Given the description of an element on the screen output the (x, y) to click on. 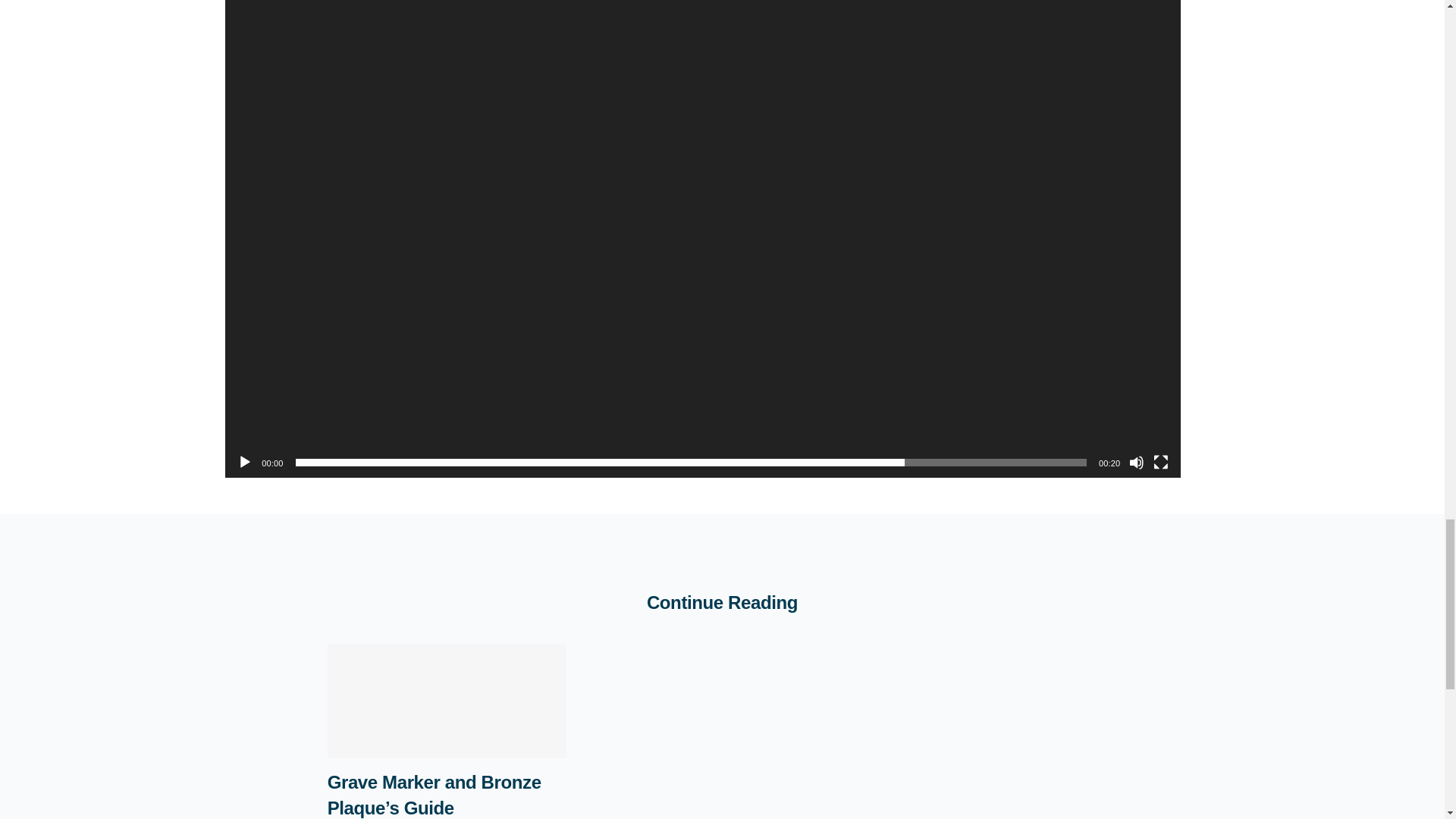
Play (244, 462)
Fullscreen (1161, 462)
Mute (1136, 462)
